Given the description of an element on the screen output the (x, y) to click on. 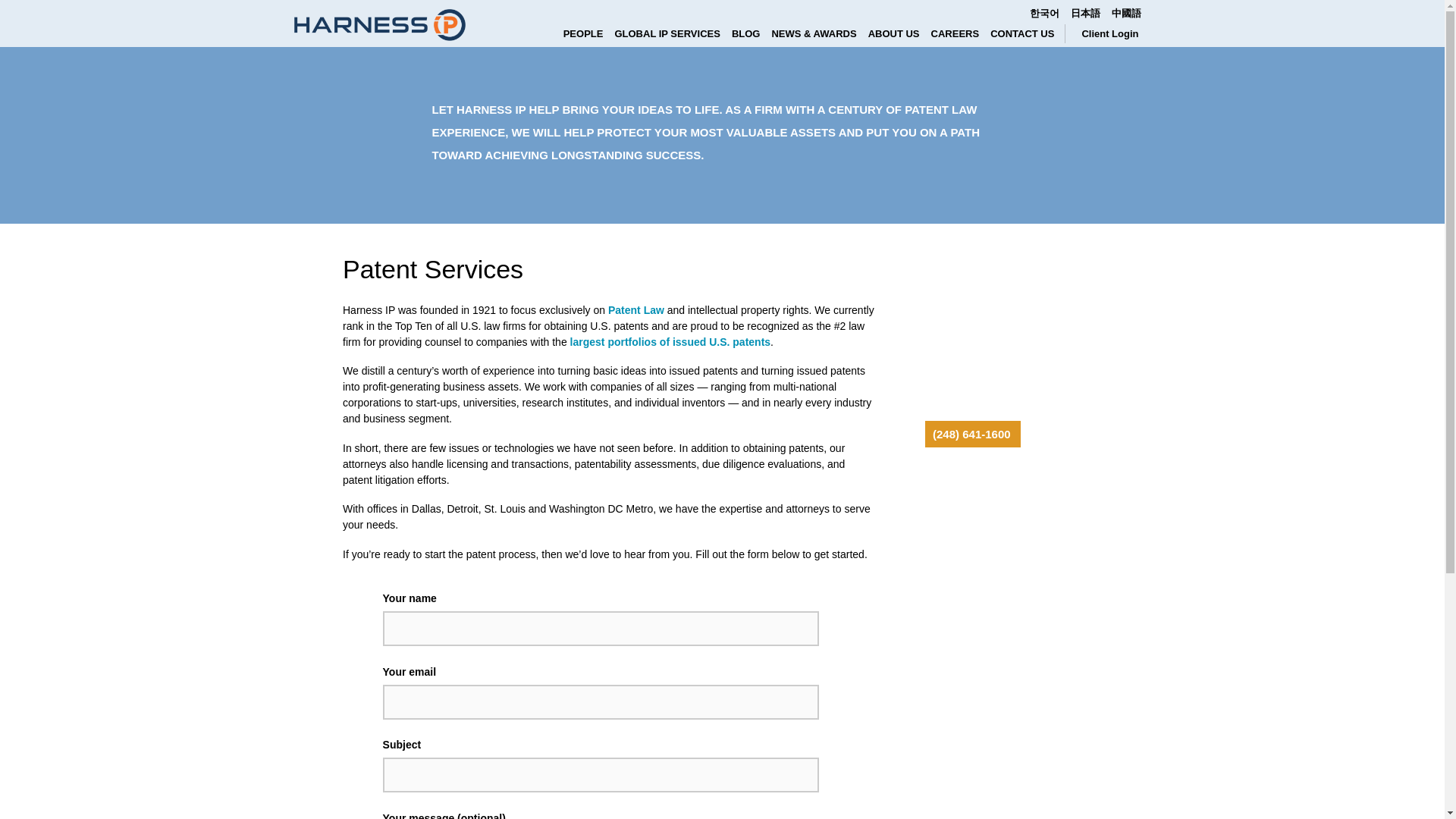
PEOPLE (588, 33)
CAREERS (961, 33)
Patent Law (635, 309)
GLOBAL IP SERVICES (672, 33)
BLOG (751, 33)
CONTACT US (1027, 33)
Client Login (1109, 33)
largest portfolios of issued U.S. patents (670, 341)
Search for: (1064, 23)
ABOUT US (899, 33)
